Given the description of an element on the screen output the (x, y) to click on. 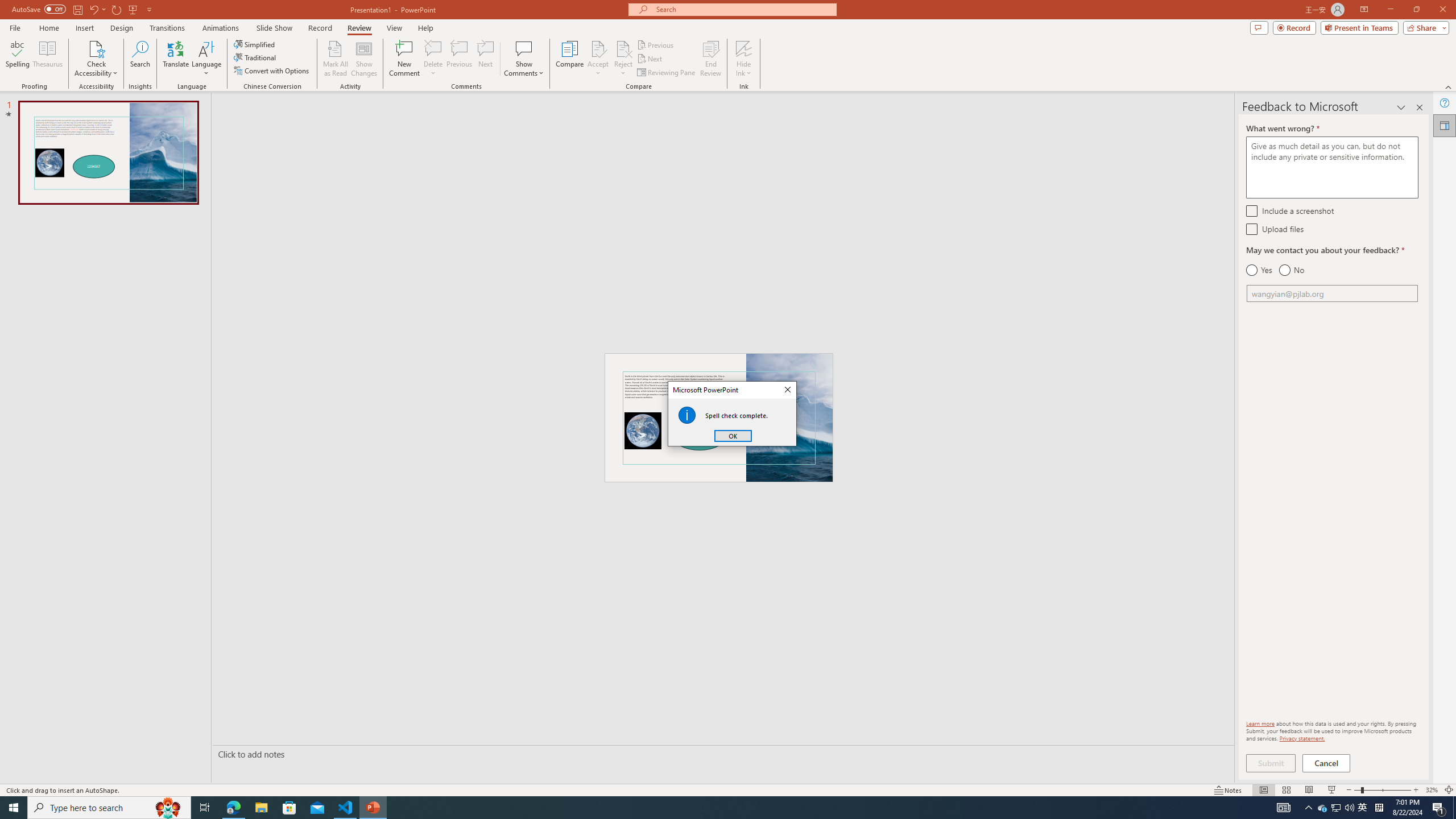
Thesaurus... (47, 58)
Include a screenshot (1251, 210)
Feedback to Microsoft (1335, 807)
Hide Ink (1444, 125)
Task Pane Options (743, 48)
